Given the description of an element on the screen output the (x, y) to click on. 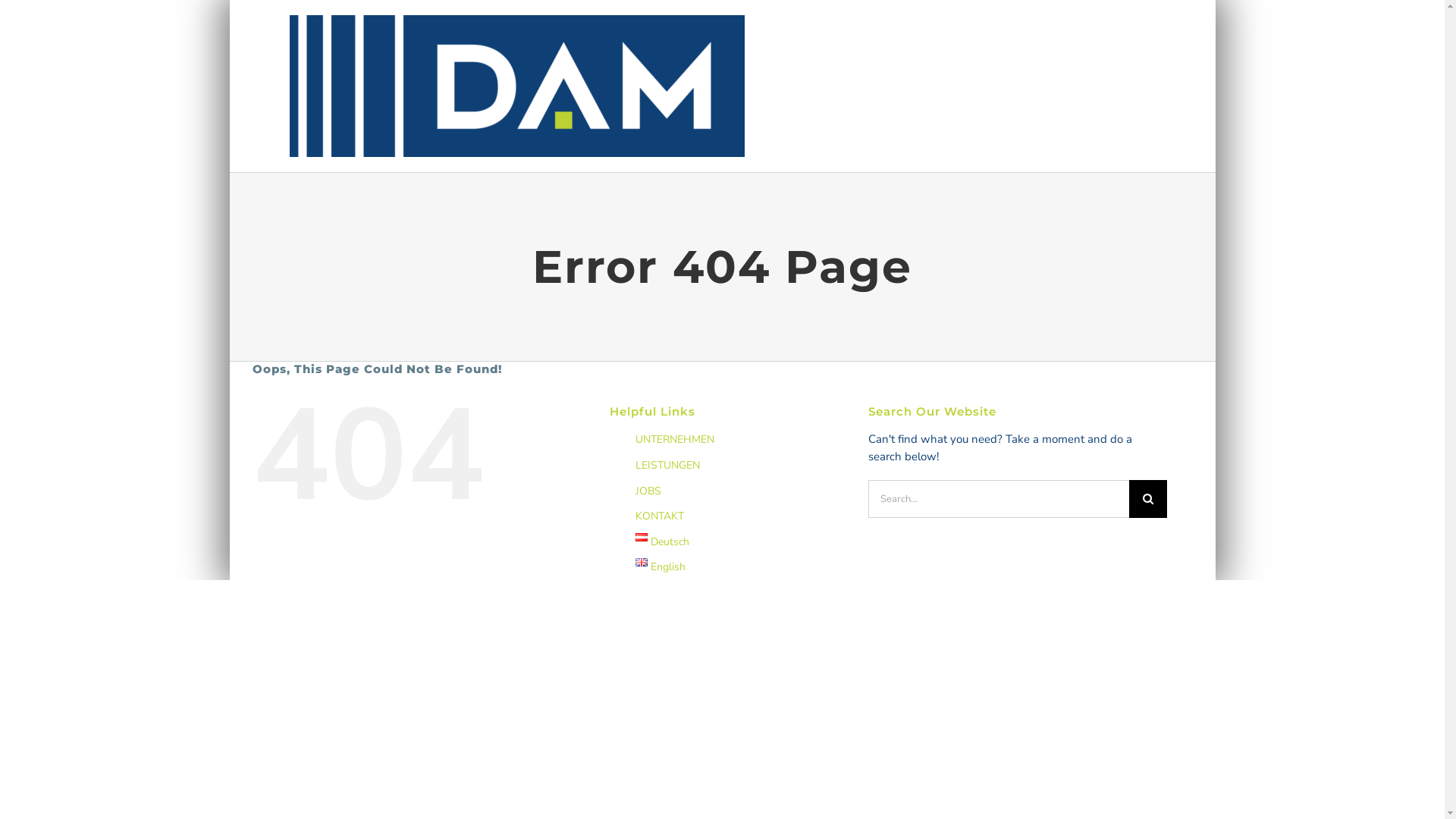
English Element type: text (660, 566)
JOBS Element type: text (648, 490)
Deutsch Element type: text (662, 541)
KONTAKT Element type: text (659, 515)
UNTERNEHMEN Element type: text (674, 439)
LEISTUNGEN Element type: text (667, 465)
